Given the description of an element on the screen output the (x, y) to click on. 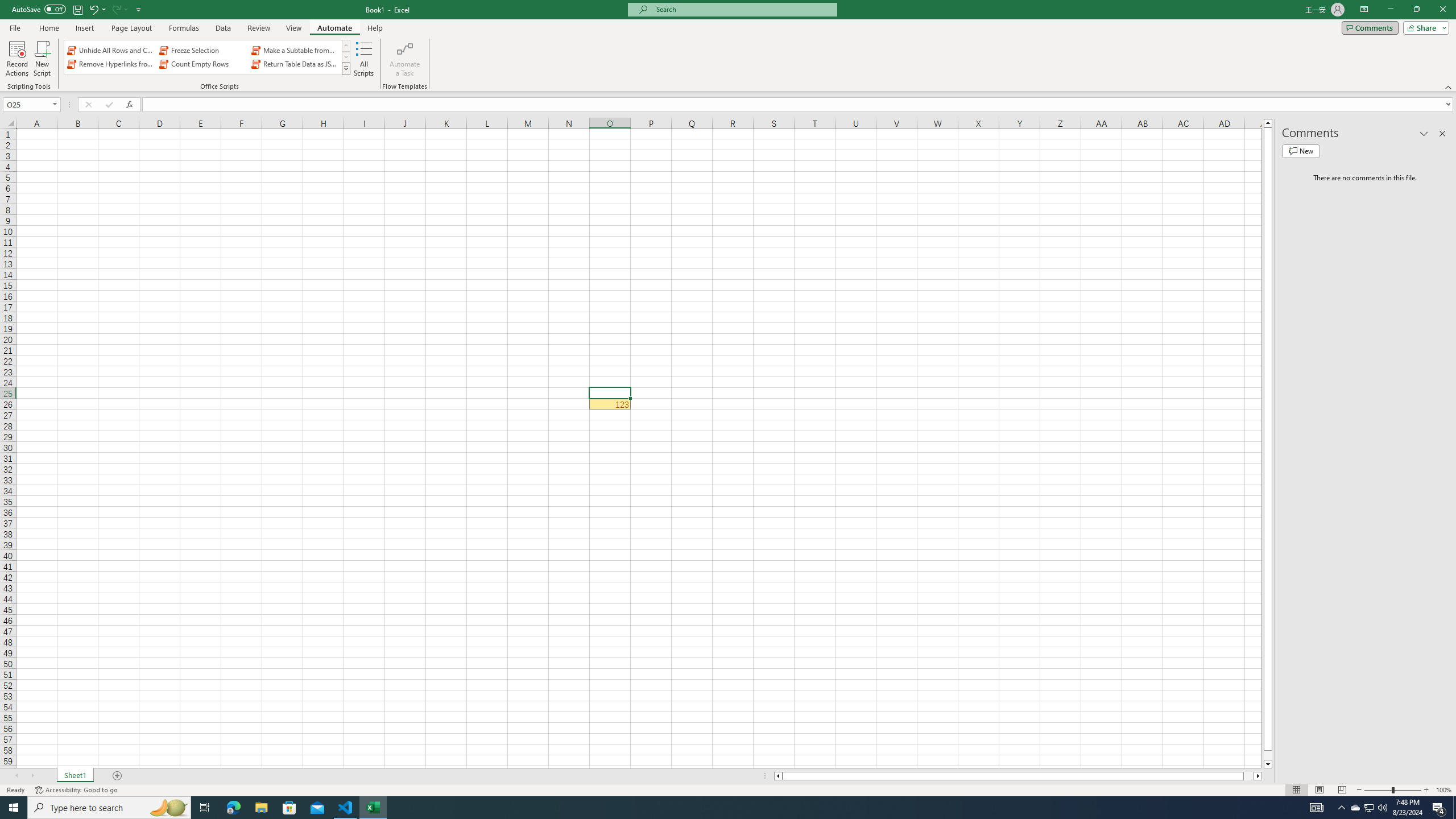
Return Table Data as JSON (294, 64)
